Given the description of an element on the screen output the (x, y) to click on. 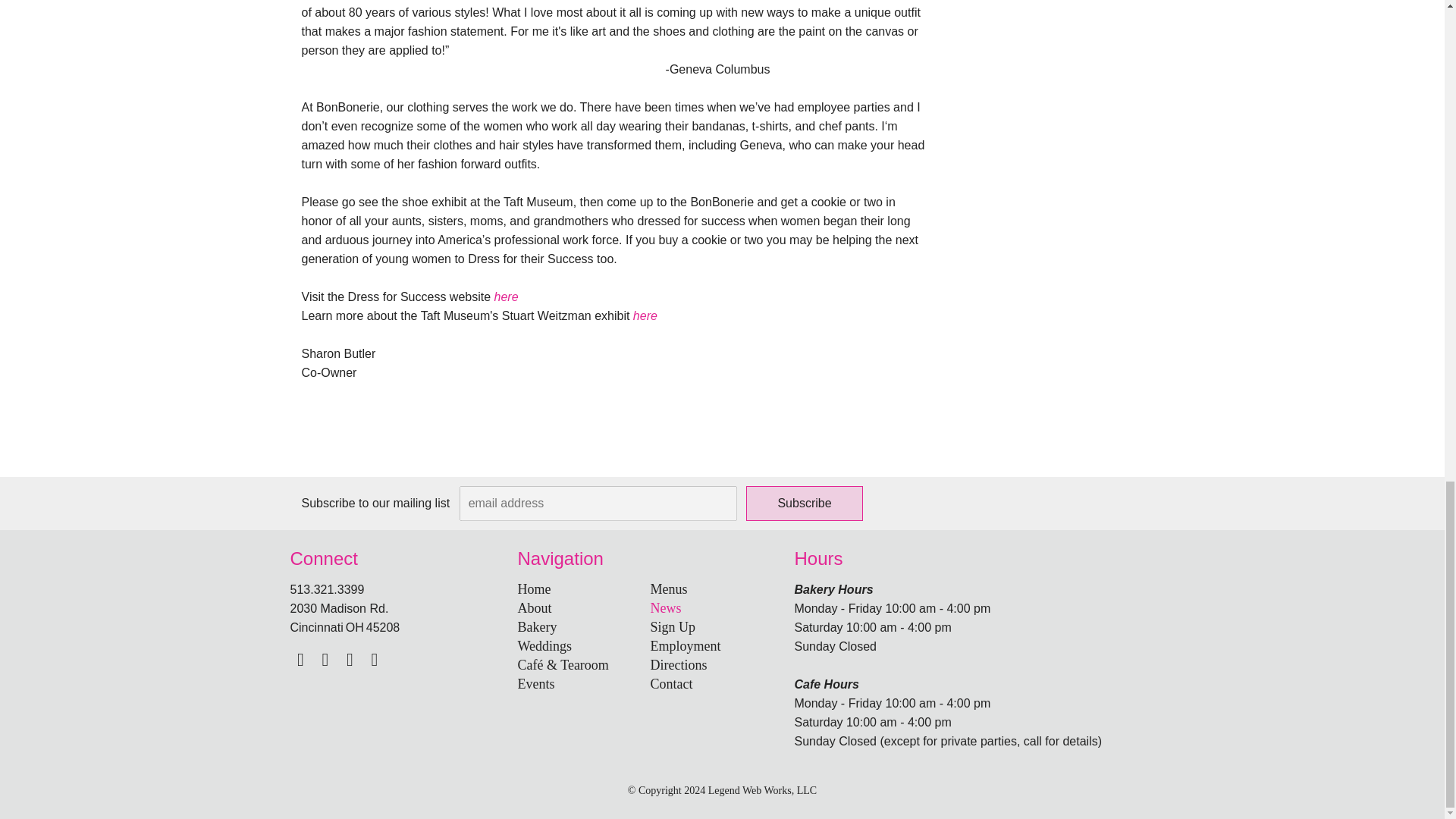
visit our Instagram page (349, 659)
Subscribe (803, 503)
visit our facebook page (300, 659)
visit our yelp page (374, 659)
visit our twitter page (325, 659)
